Given the description of an element on the screen output the (x, y) to click on. 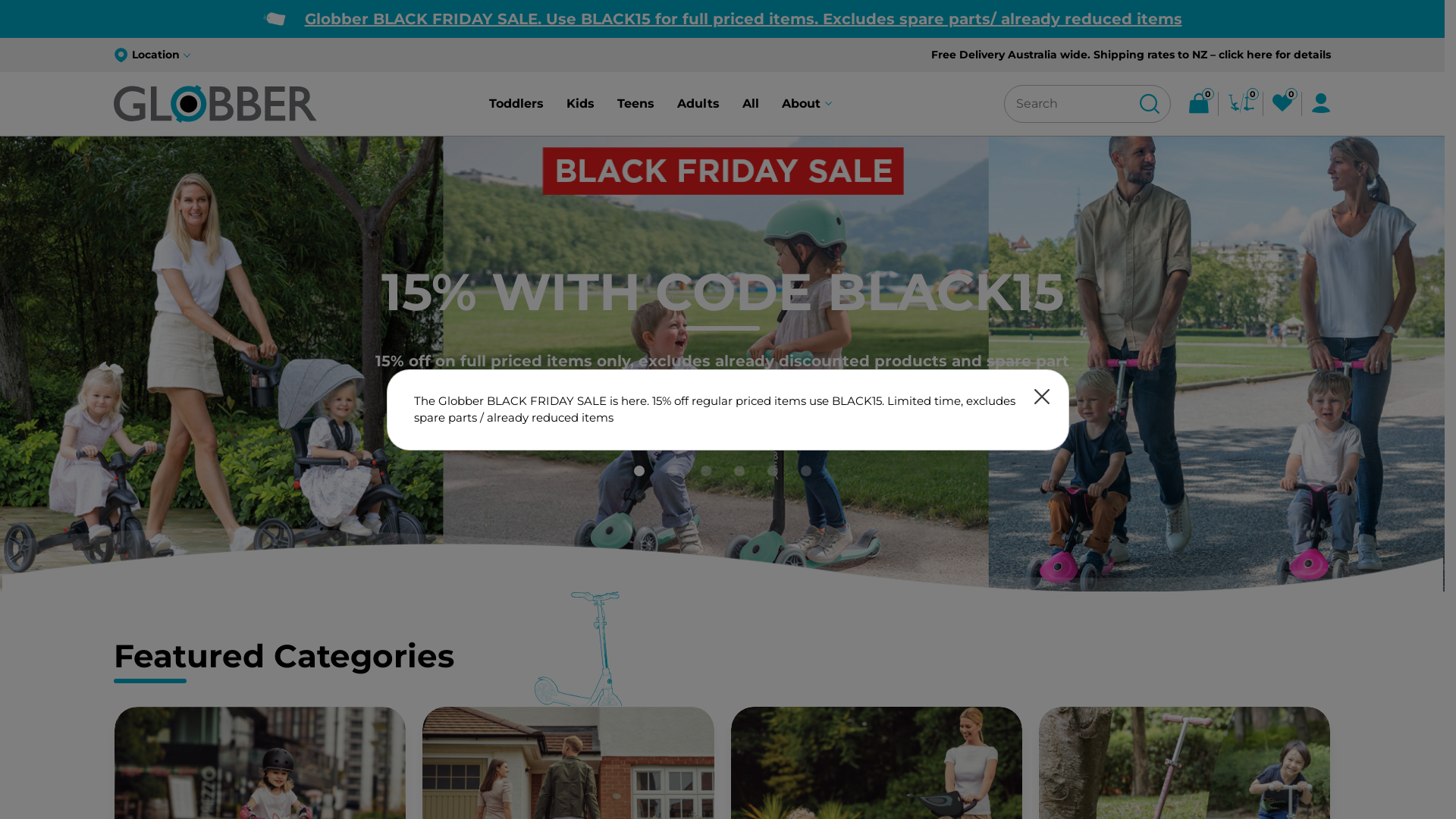
About Element type: text (806, 103)
Toddlers Element type: text (516, 103)
Adults Element type: text (698, 103)
0 Element type: text (1198, 103)
0 Element type: text (1240, 103)
See the whole range Element type: text (721, 391)
Kids Element type: text (580, 103)
0 Element type: text (1282, 103)
Teens Element type: text (635, 103)
All Element type: text (750, 103)
